Given the description of an element on the screen output the (x, y) to click on. 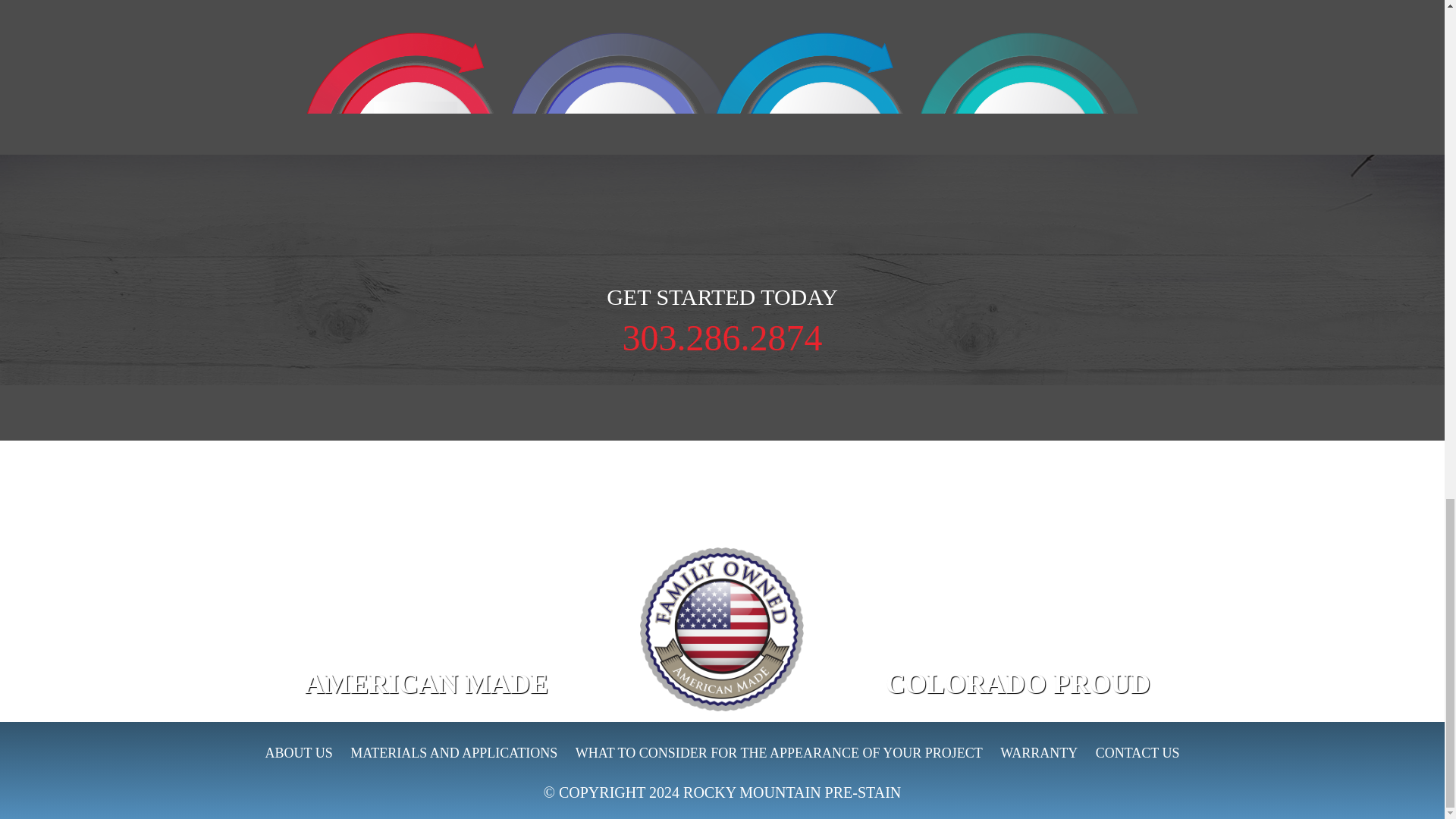
WHAT TO CONSIDER FOR THE APPEARANCE OF YOUR PROJECT (778, 752)
ABOUT US (298, 752)
WARRANTY (1038, 752)
MATERIALS AND APPLICATIONS (453, 752)
CONTACT US (1137, 752)
